Given the description of an element on the screen output the (x, y) to click on. 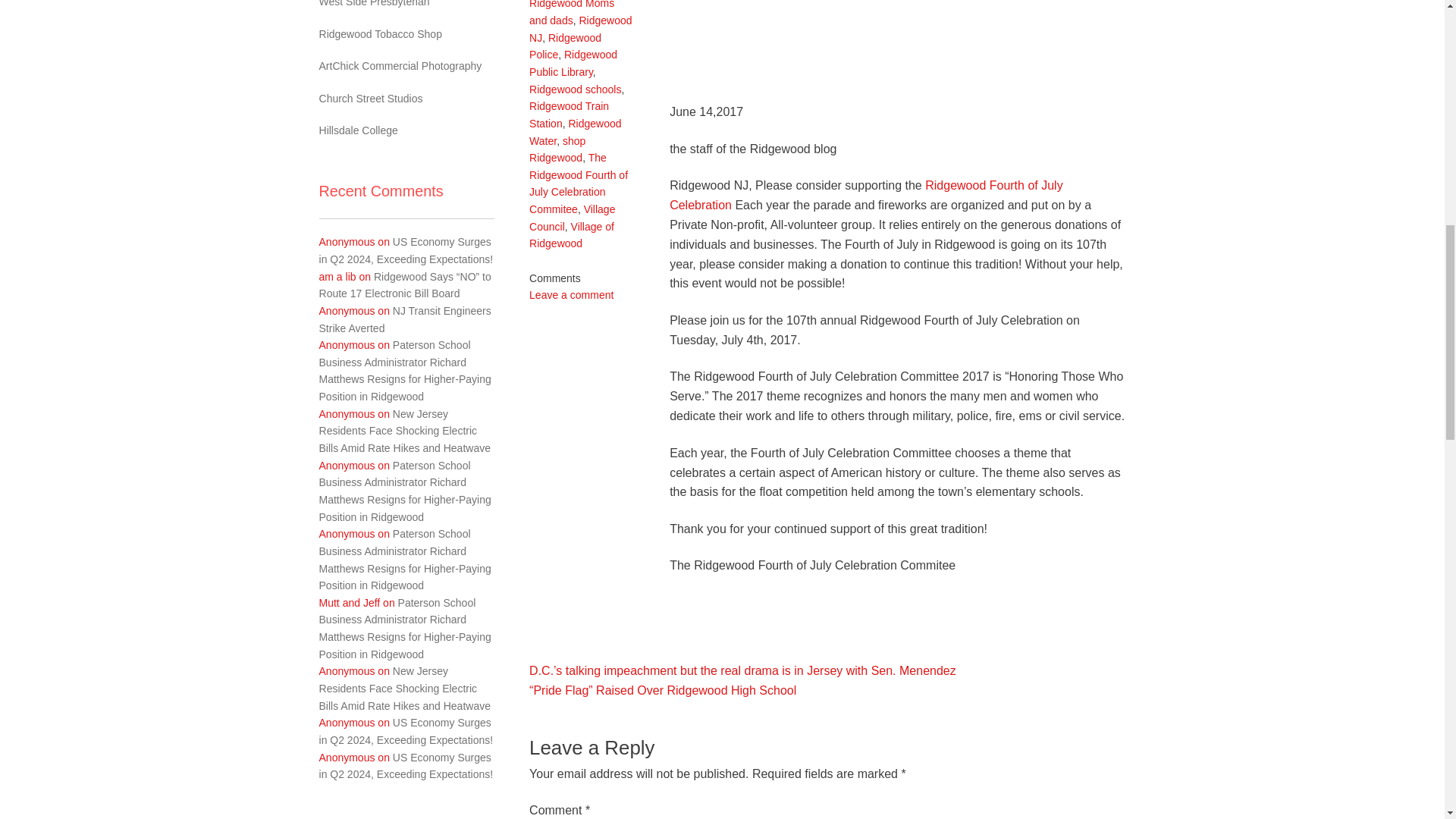
shop Ridgewood (557, 149)
Village of Ridgewood (571, 235)
The Ridgewood Fourth of July Celebration Commitee (578, 183)
Ridgewood Public Library (573, 62)
Ridgewood Moms and dads (571, 13)
Ridgewood Police (565, 46)
Ridgewood schools (575, 89)
Ridgewood Water (575, 132)
Village Council (571, 217)
Ridgewood NJ (580, 29)
Ridgewood Train Station (568, 114)
